Given the description of an element on the screen output the (x, y) to click on. 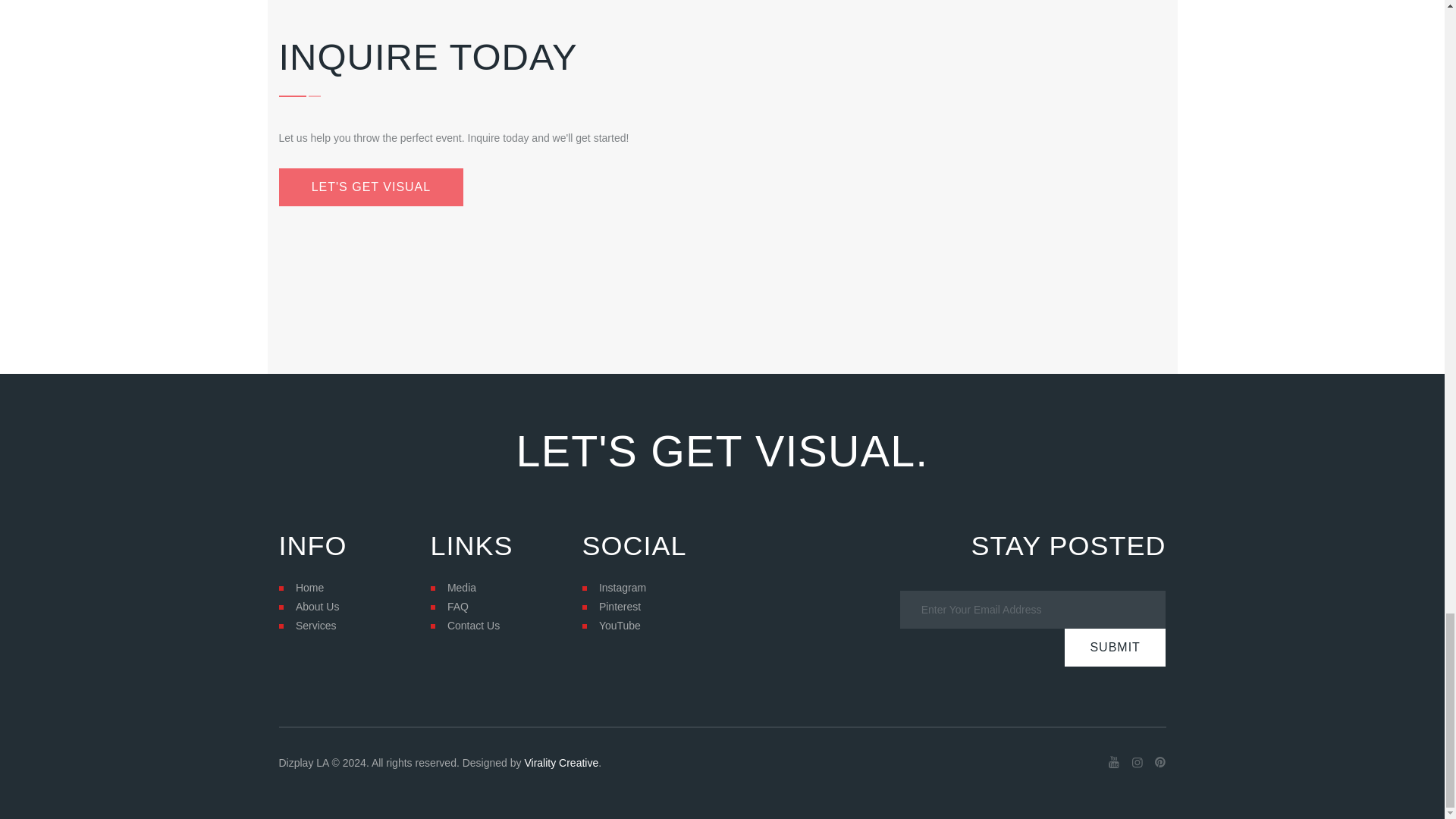
Submit (1115, 647)
